Given the description of an element on the screen output the (x, y) to click on. 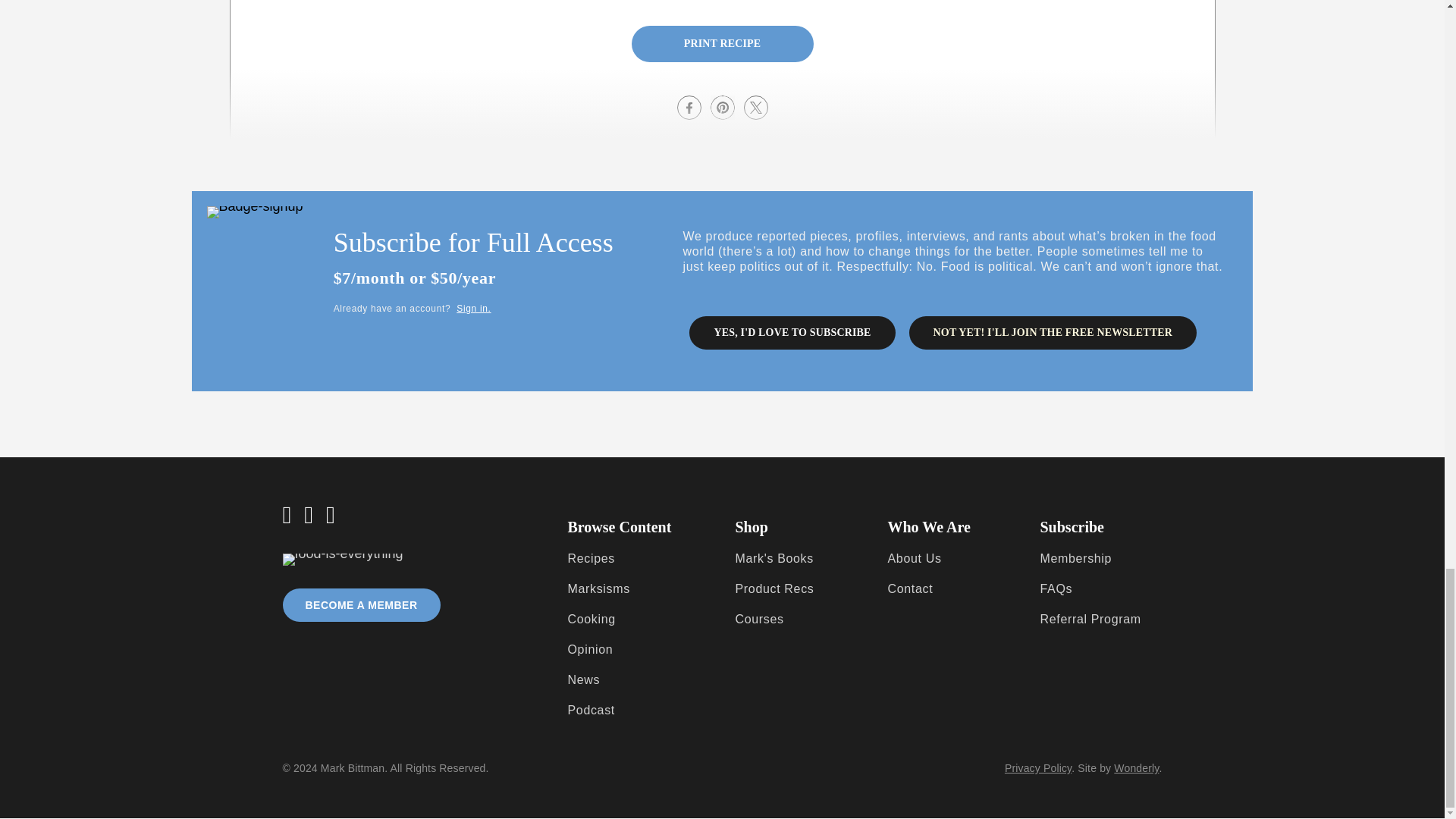
food-is-everything (342, 559)
Badge-signup (254, 212)
